Given the description of an element on the screen output the (x, y) to click on. 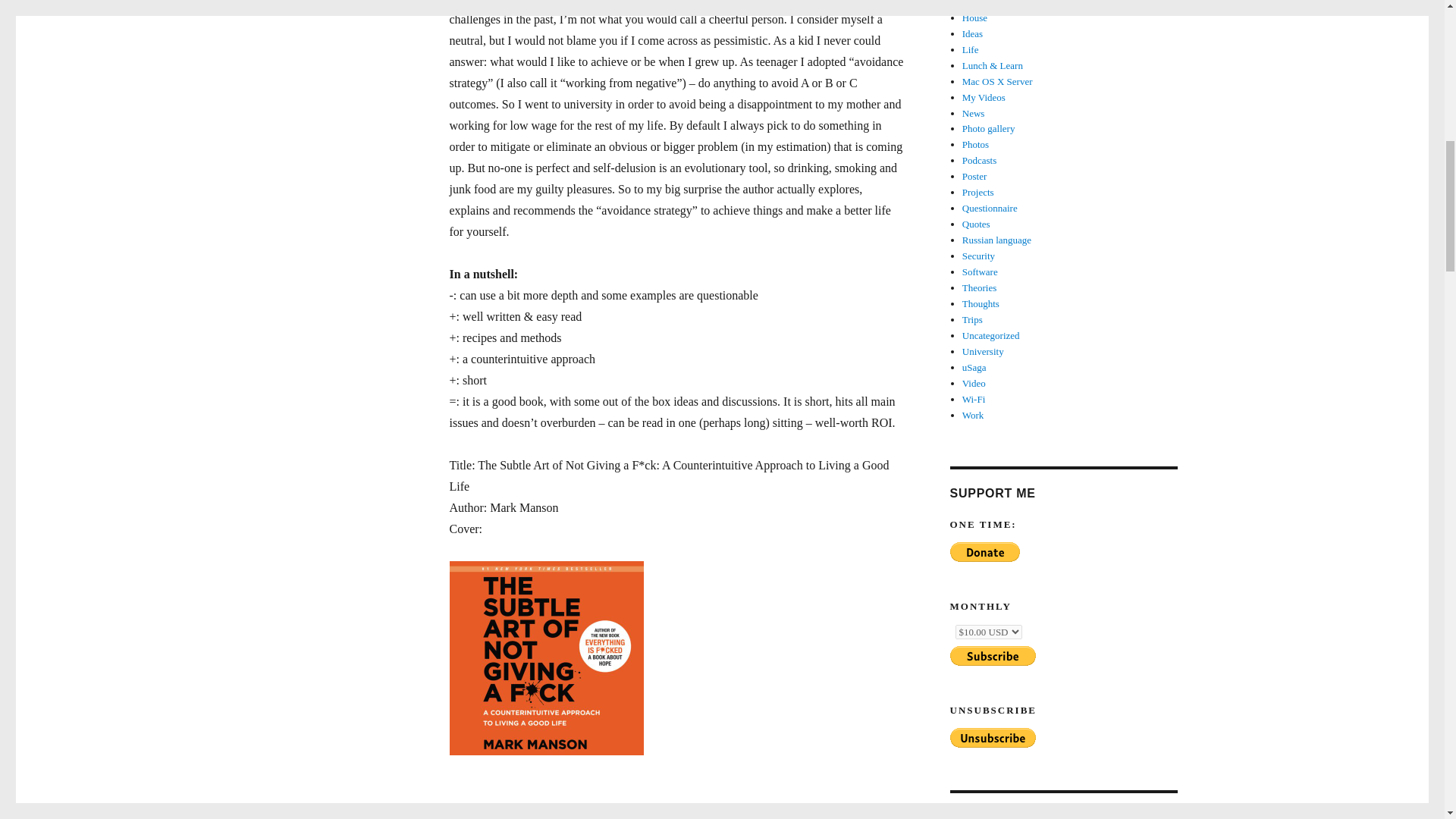
House (974, 17)
Hardware (981, 3)
PayPal - The safer, easier way to pay online! (984, 551)
